Given the description of an element on the screen output the (x, y) to click on. 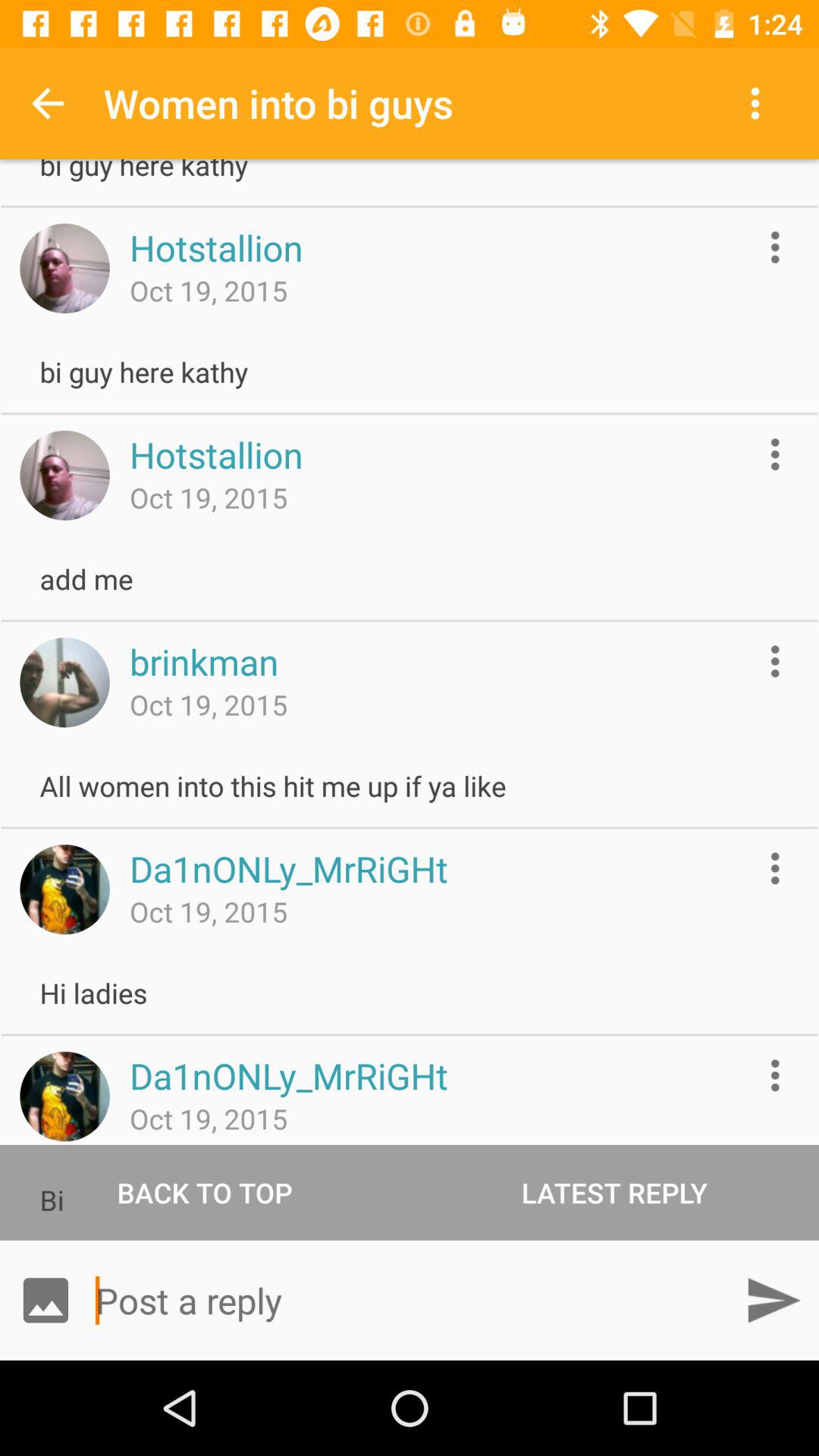
press brinkman item (203, 661)
